Given the description of an element on the screen output the (x, y) to click on. 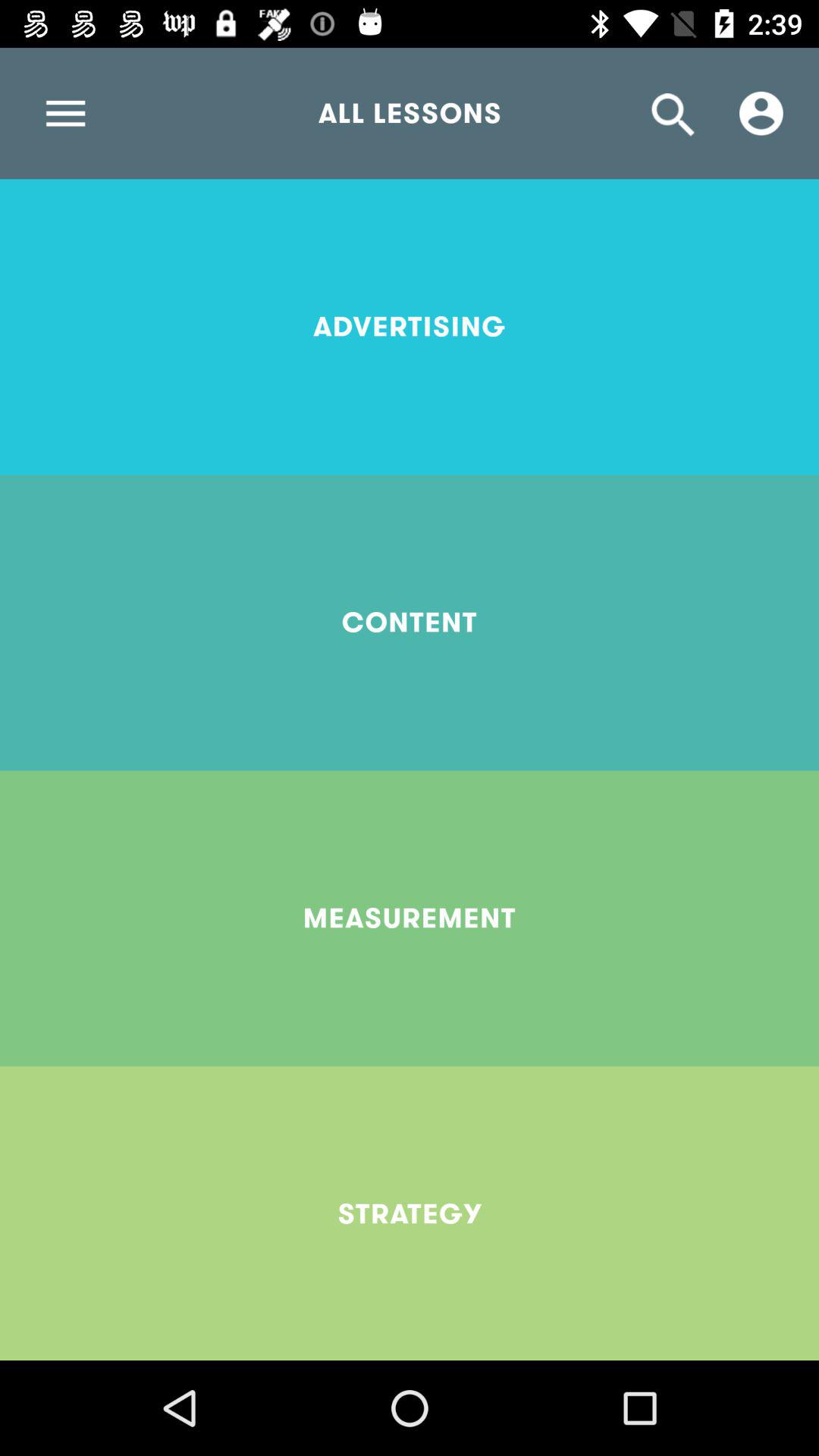
select item next to the all lessons item (65, 113)
